Given the description of an element on the screen output the (x, y) to click on. 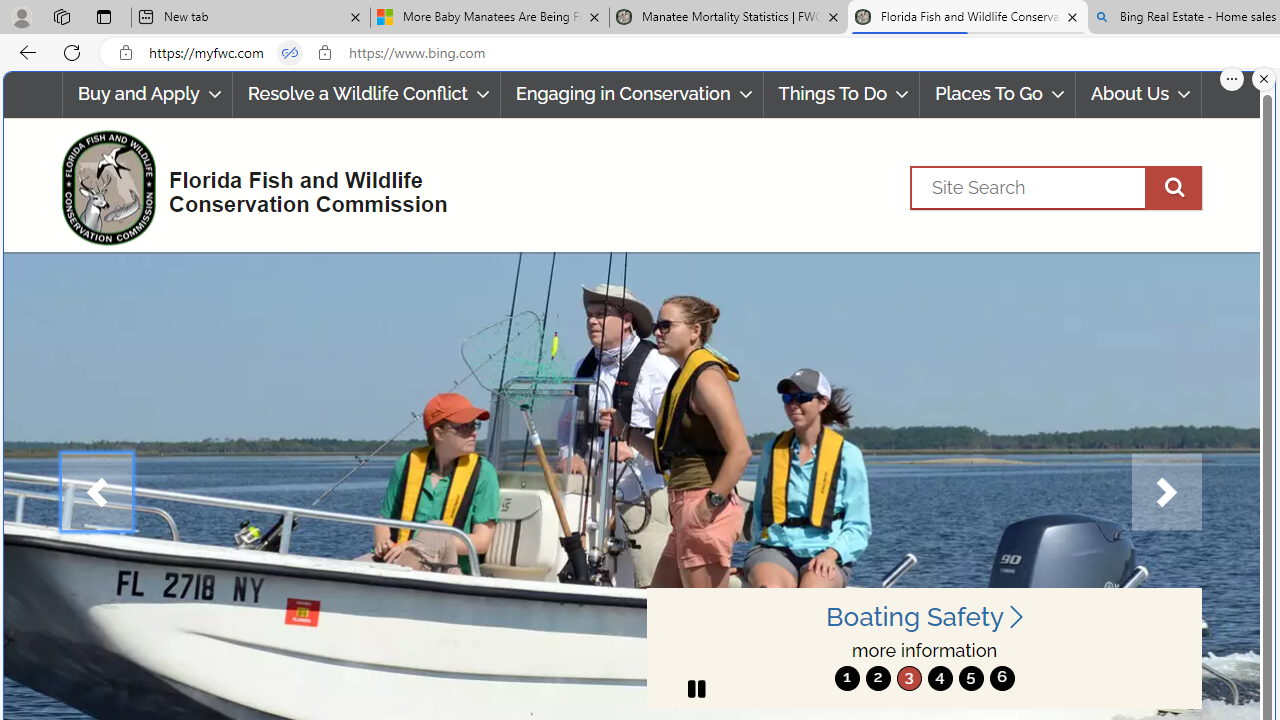
move to slide 1 (847, 678)
Resolve a Wildlife Conflict (365, 94)
Personal Profile (21, 16)
execute site search (1173, 187)
move to slide 3 (908, 678)
Manatee Mortality Statistics | FWC (729, 17)
Things To Do (841, 94)
6 (1002, 678)
Refresh (72, 52)
Engaging in Conservation (631, 94)
Previous (96, 491)
FWC Logo Florida Fish and Wildlife Conservation Commission (246, 185)
Search (1055, 187)
More options. (1232, 79)
Places To Go (997, 94)
